Given the description of an element on the screen output the (x, y) to click on. 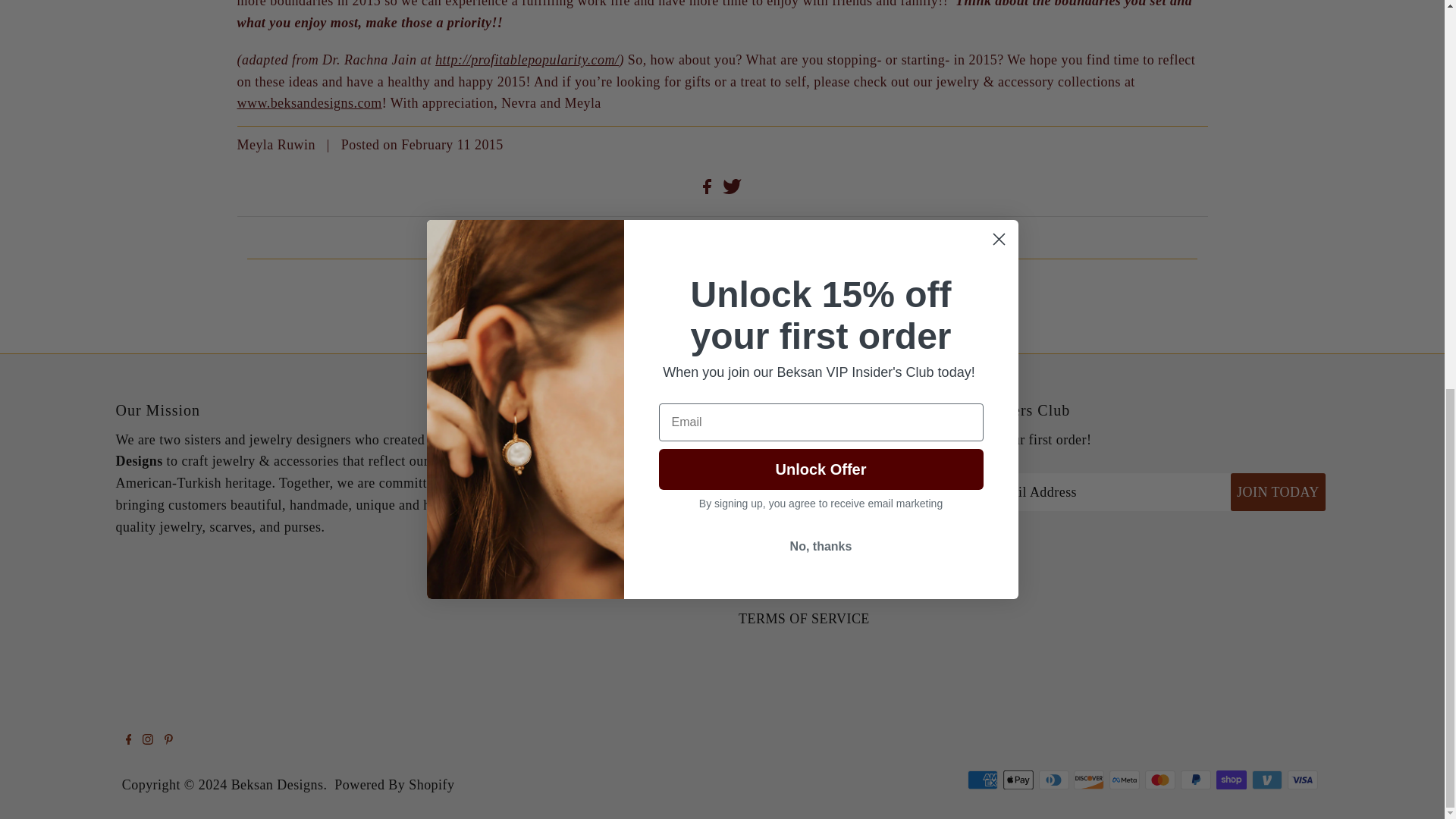
JOIN TODAY (1277, 492)
Share on Twitter (731, 189)
American Express (982, 779)
Diners Club (1053, 779)
Meta Pay (1124, 779)
PayPal (1195, 779)
Discover (1088, 779)
Mastercard (1159, 779)
Apple Pay (1018, 779)
